Given the description of an element on the screen output the (x, y) to click on. 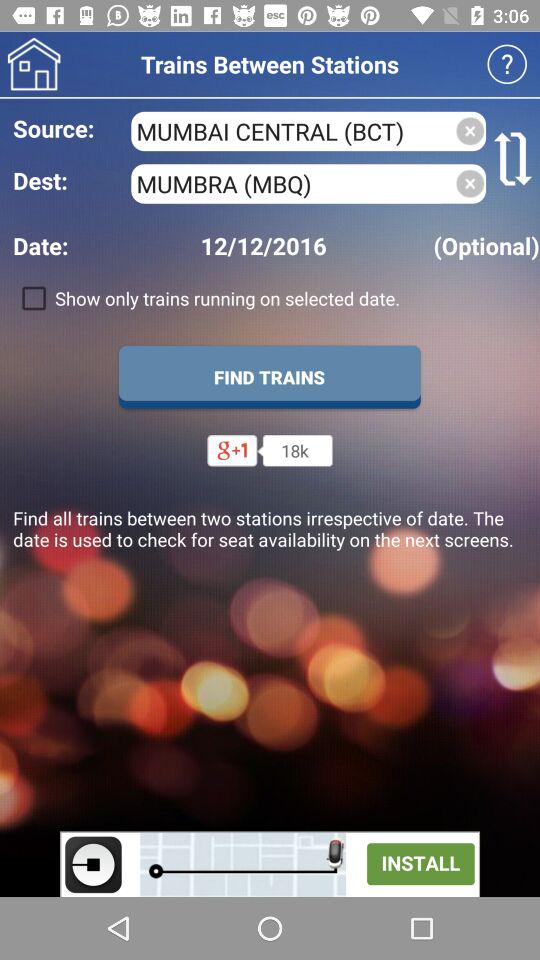
app advertisement option (270, 864)
